Given the description of an element on the screen output the (x, y) to click on. 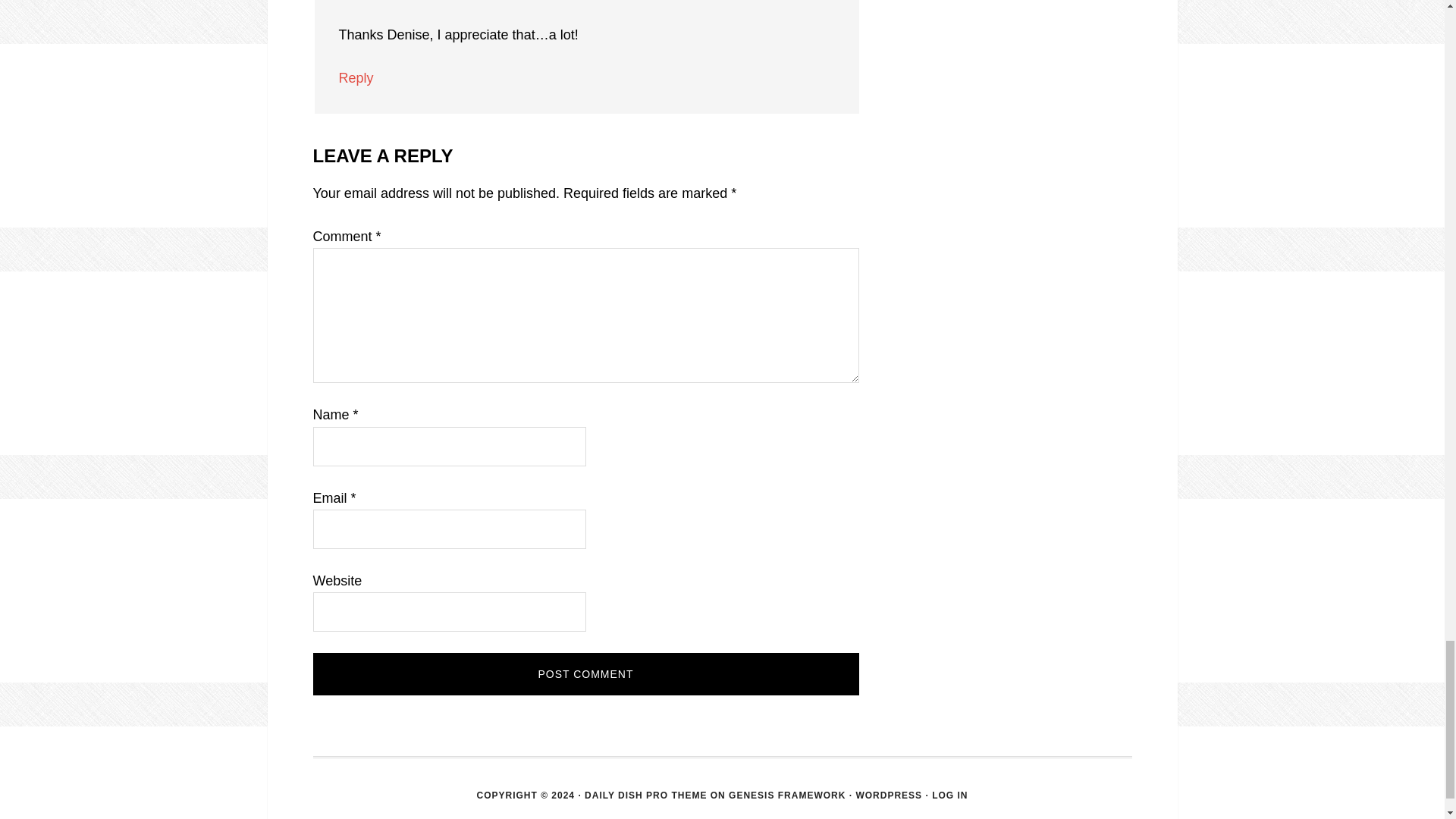
Post Comment (586, 673)
Reply (354, 77)
LOG IN (949, 795)
Post Comment (586, 673)
DAILY DISH PRO THEME (645, 795)
WORDPRESS (888, 795)
GENESIS FRAMEWORK (787, 795)
